Given the description of an element on the screen output the (x, y) to click on. 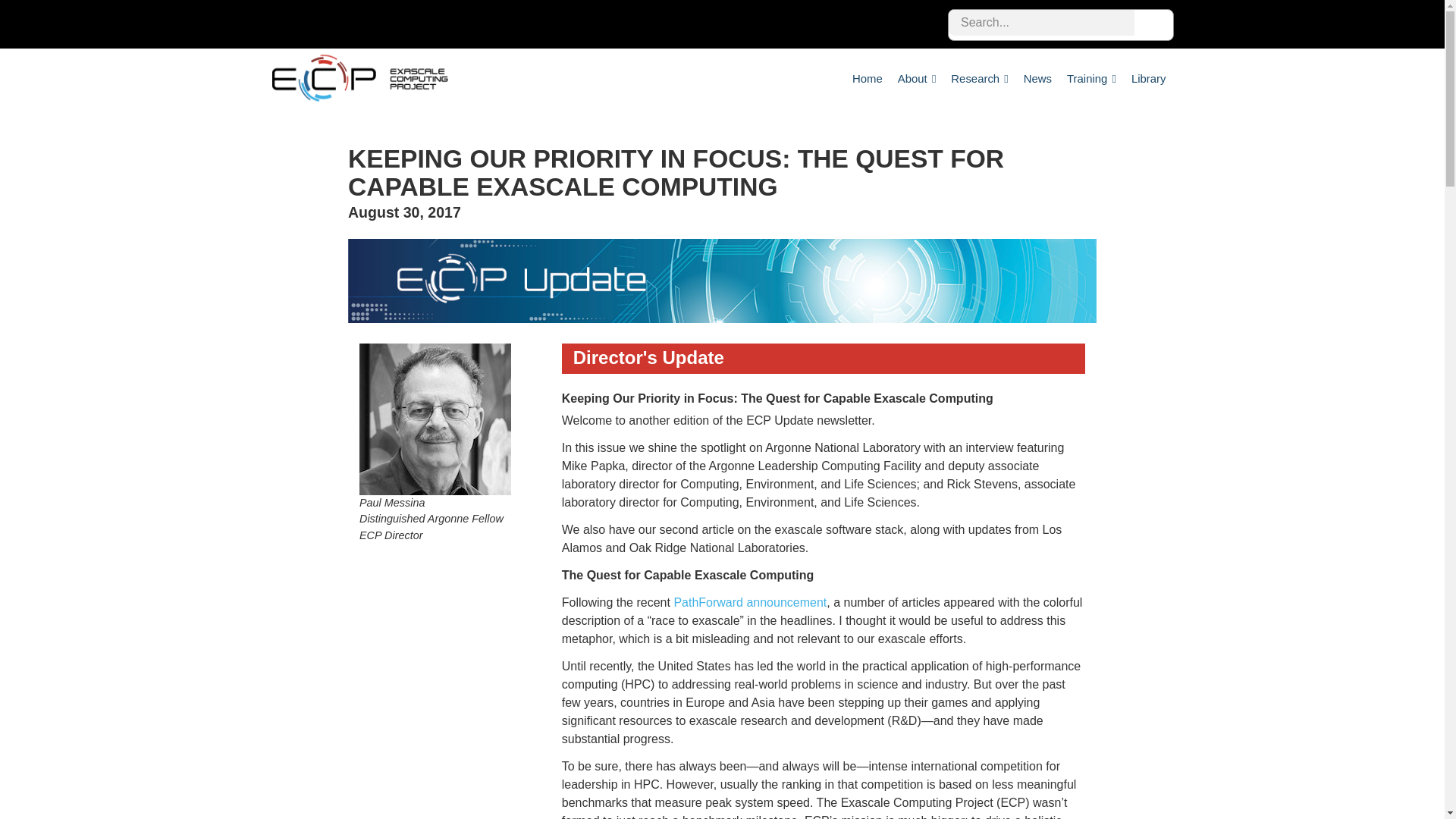
PathForward announcement (749, 602)
Search (1152, 24)
Research (978, 78)
Research (978, 78)
Search (1152, 24)
Training (1091, 78)
Training (1091, 78)
Search (1152, 24)
